Given the description of an element on the screen output the (x, y) to click on. 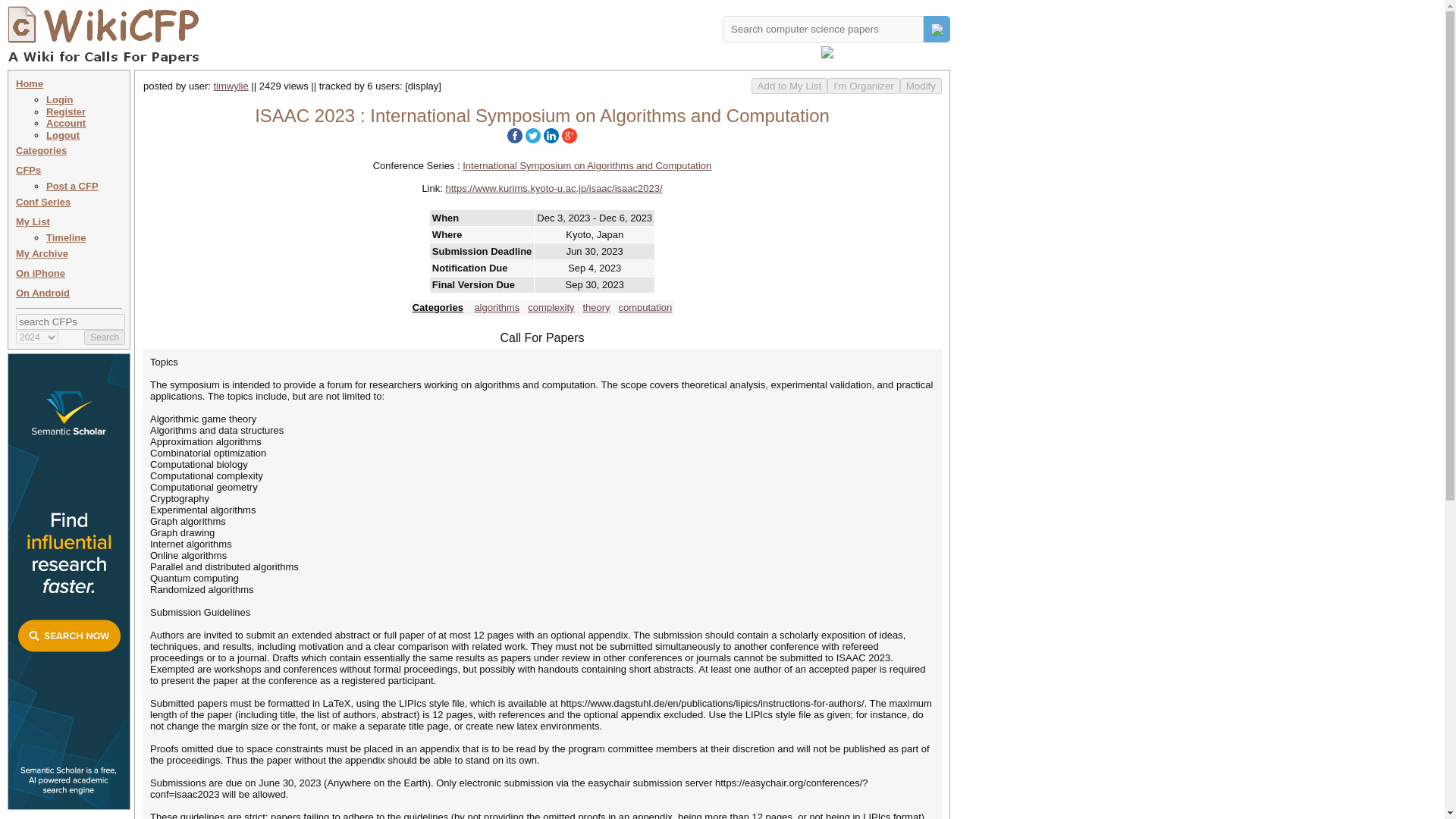
Search (104, 337)
Categories (437, 307)
Login (59, 99)
CFPs (28, 170)
Logout (63, 134)
Add to My List (789, 85)
Home (29, 83)
theory (596, 307)
Categories (41, 150)
Timeline (65, 237)
